Given the description of an element on the screen output the (x, y) to click on. 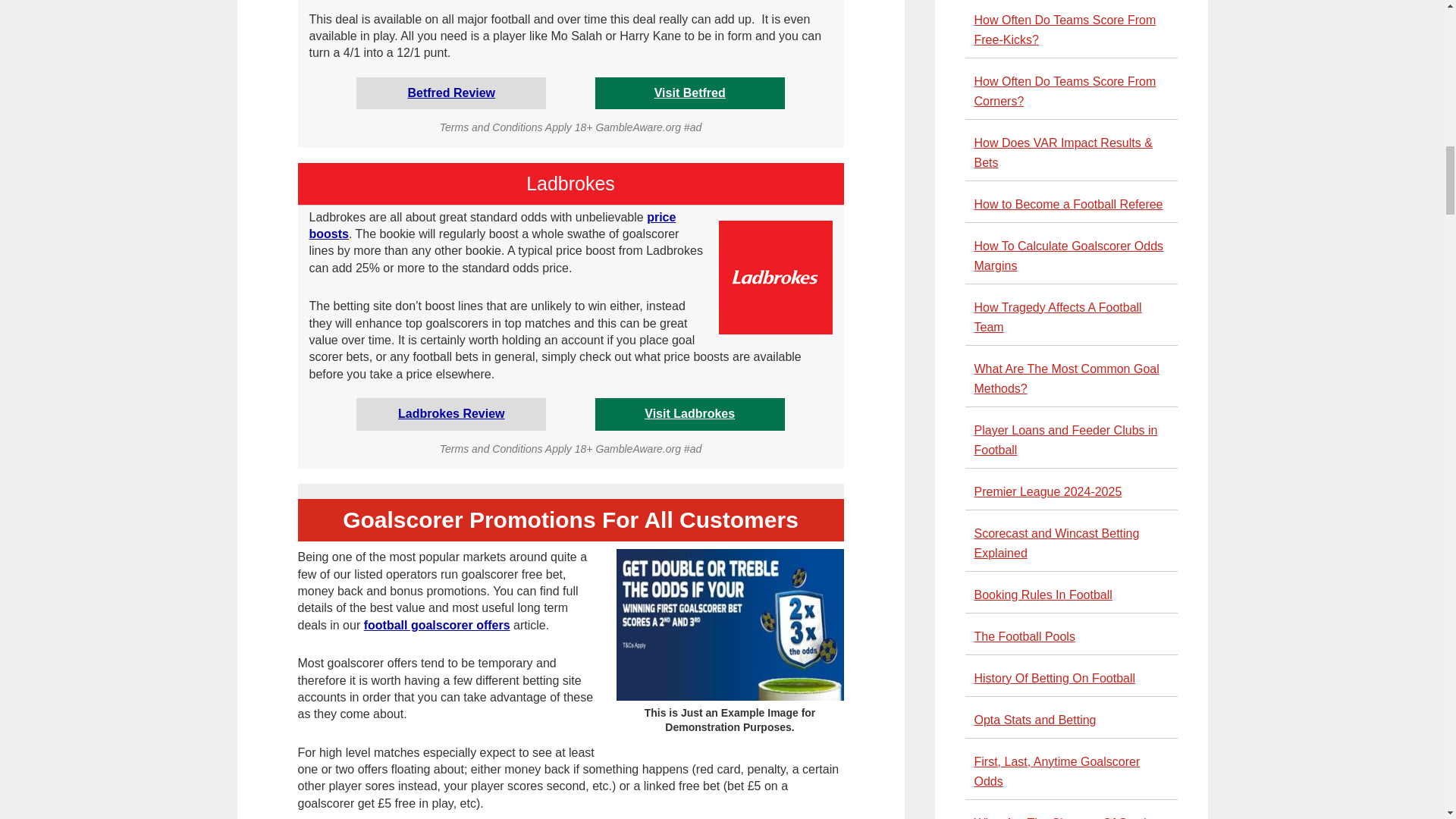
Visit Betfred (689, 92)
Visit Ladbrokes (690, 413)
Ladbrokes Review (451, 413)
Ladbrokes Review (451, 413)
Betfred Review (451, 92)
price boosts (492, 225)
football goalscorer offers (437, 625)
Betfred Review (451, 92)
